Given the description of an element on the screen output the (x, y) to click on. 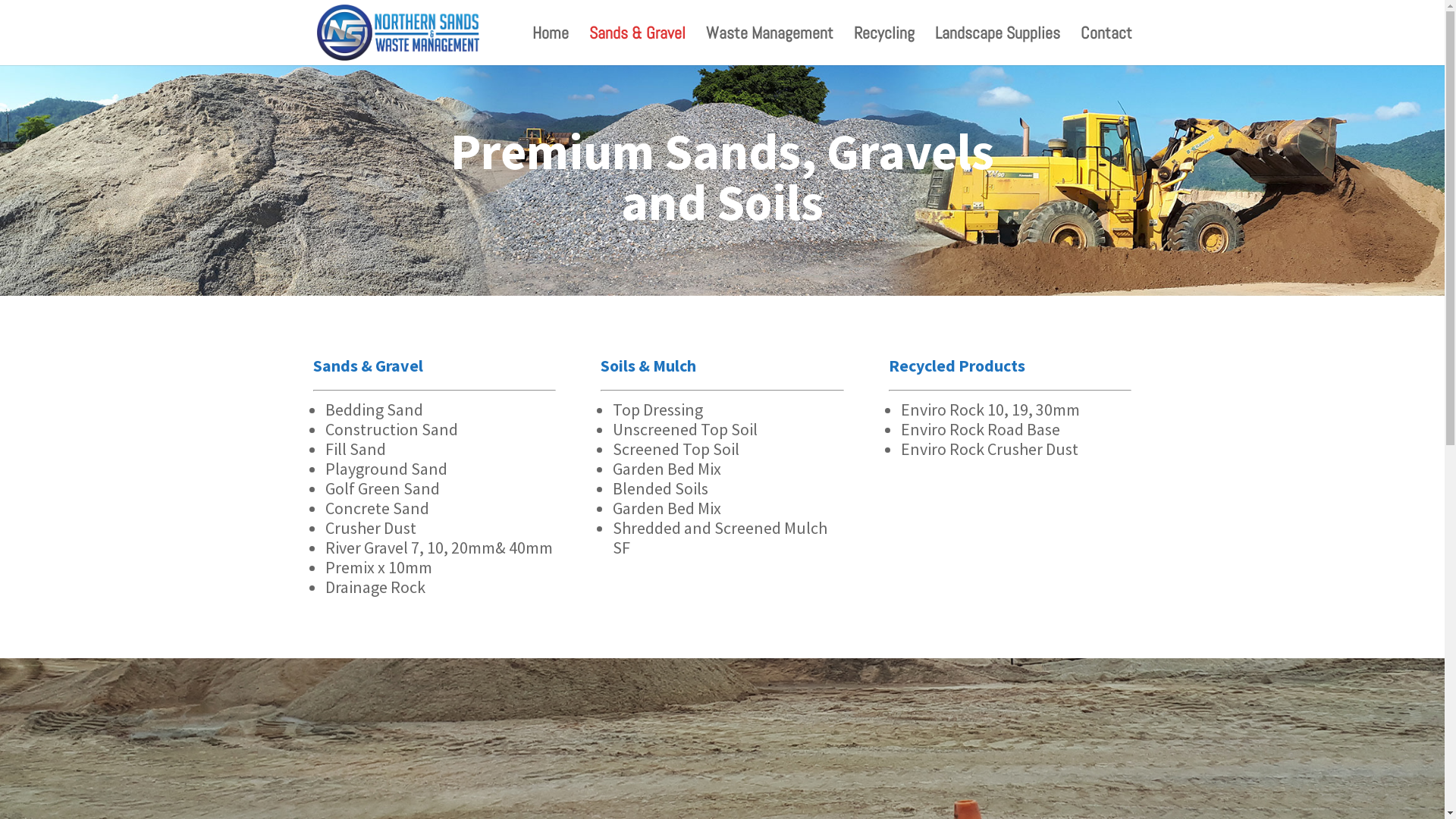
Landscape Supplies Element type: text (996, 46)
Recycling Element type: text (883, 46)
Sands & Gravel Element type: text (636, 46)
Home Element type: text (550, 46)
Contact Element type: text (1105, 46)
Waste Management Element type: text (768, 46)
